Given the description of an element on the screen output the (x, y) to click on. 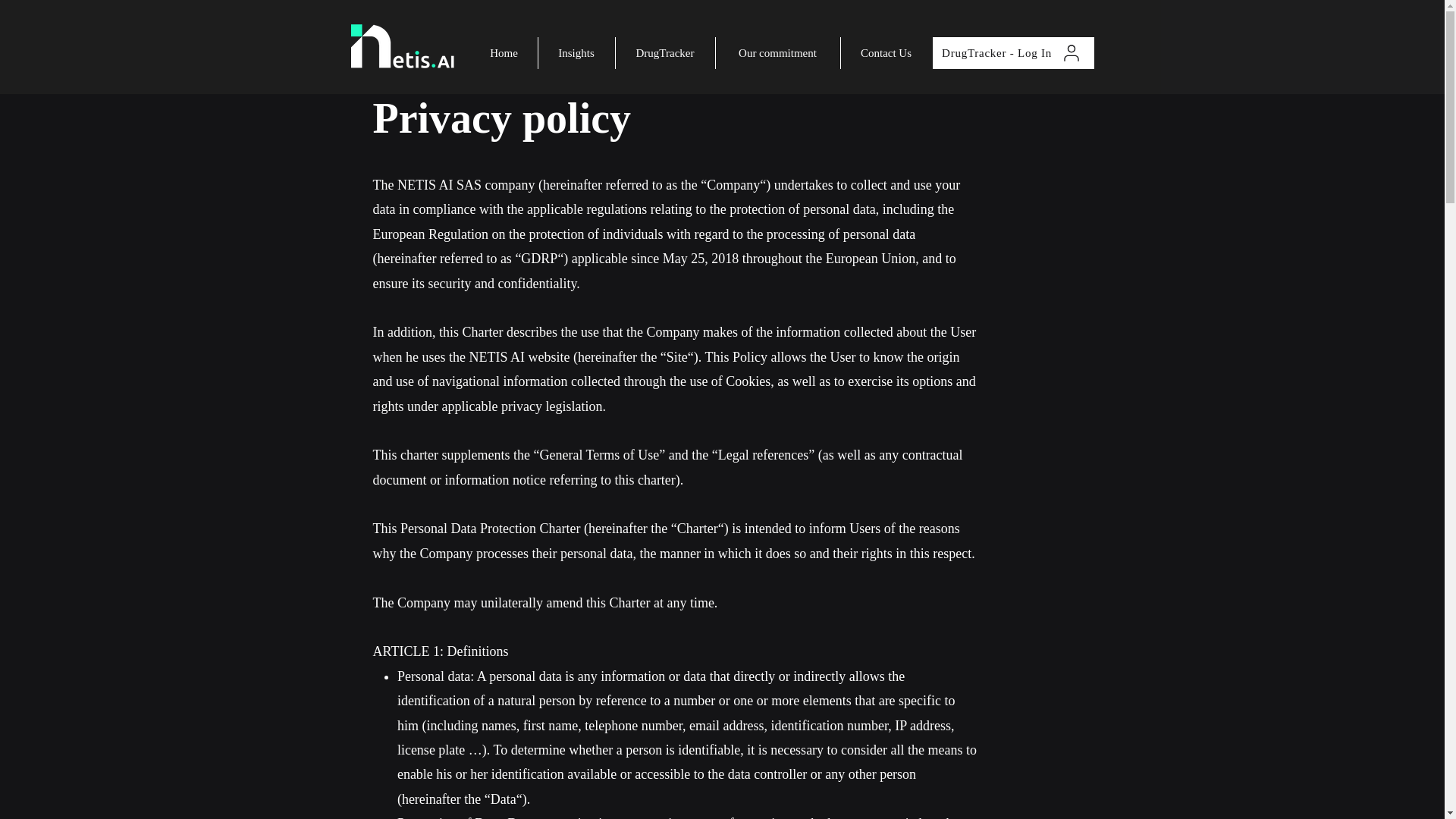
Our commitment (778, 52)
Legal references (762, 454)
Contact Us (885, 52)
DrugTracker - Log In (1013, 52)
General Terms of Use (598, 454)
Home (503, 52)
Insights (576, 52)
DrugTracker (664, 52)
